Given the description of an element on the screen output the (x, y) to click on. 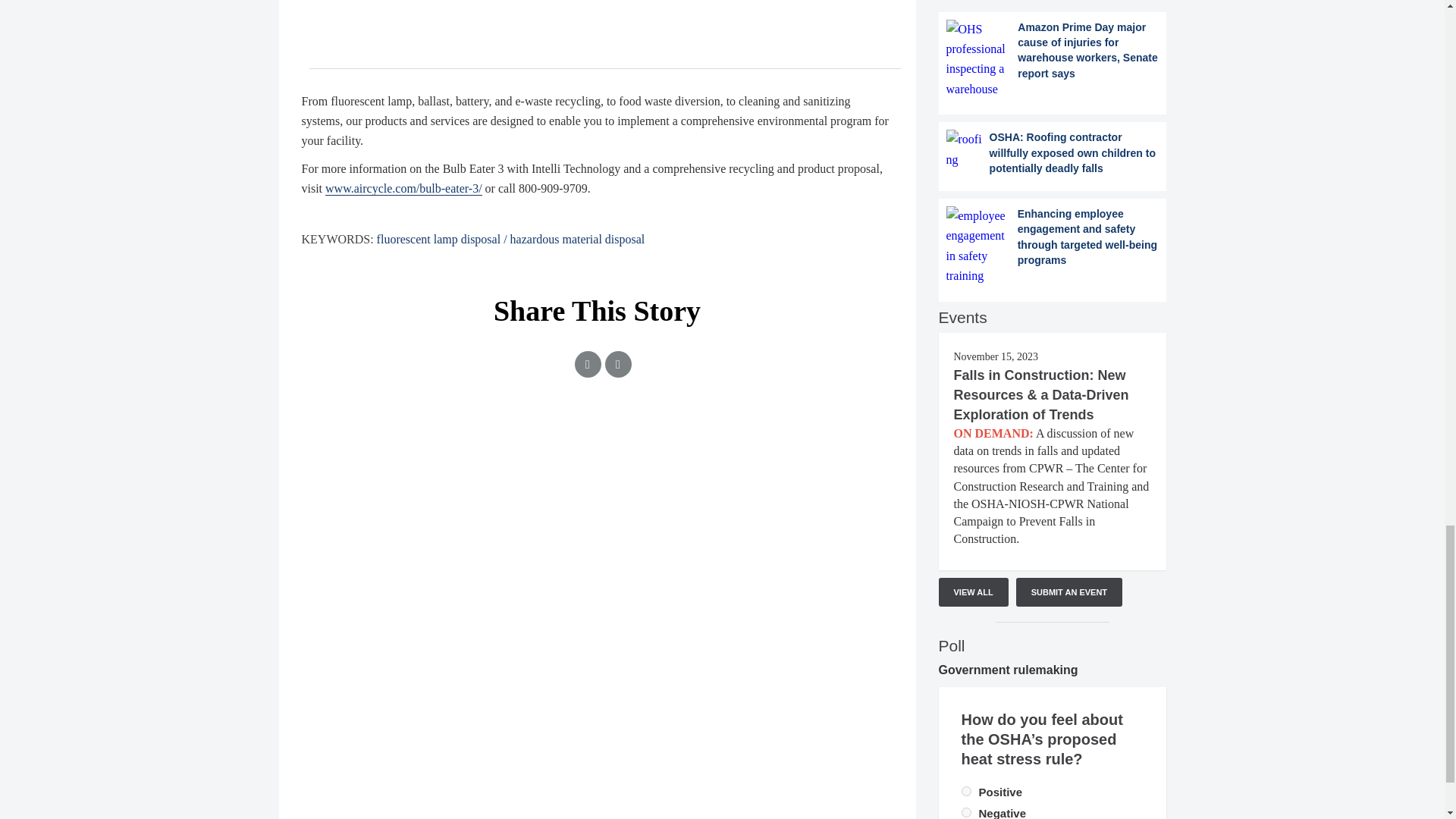
142 (965, 791)
143 (965, 812)
